Given the description of an element on the screen output the (x, y) to click on. 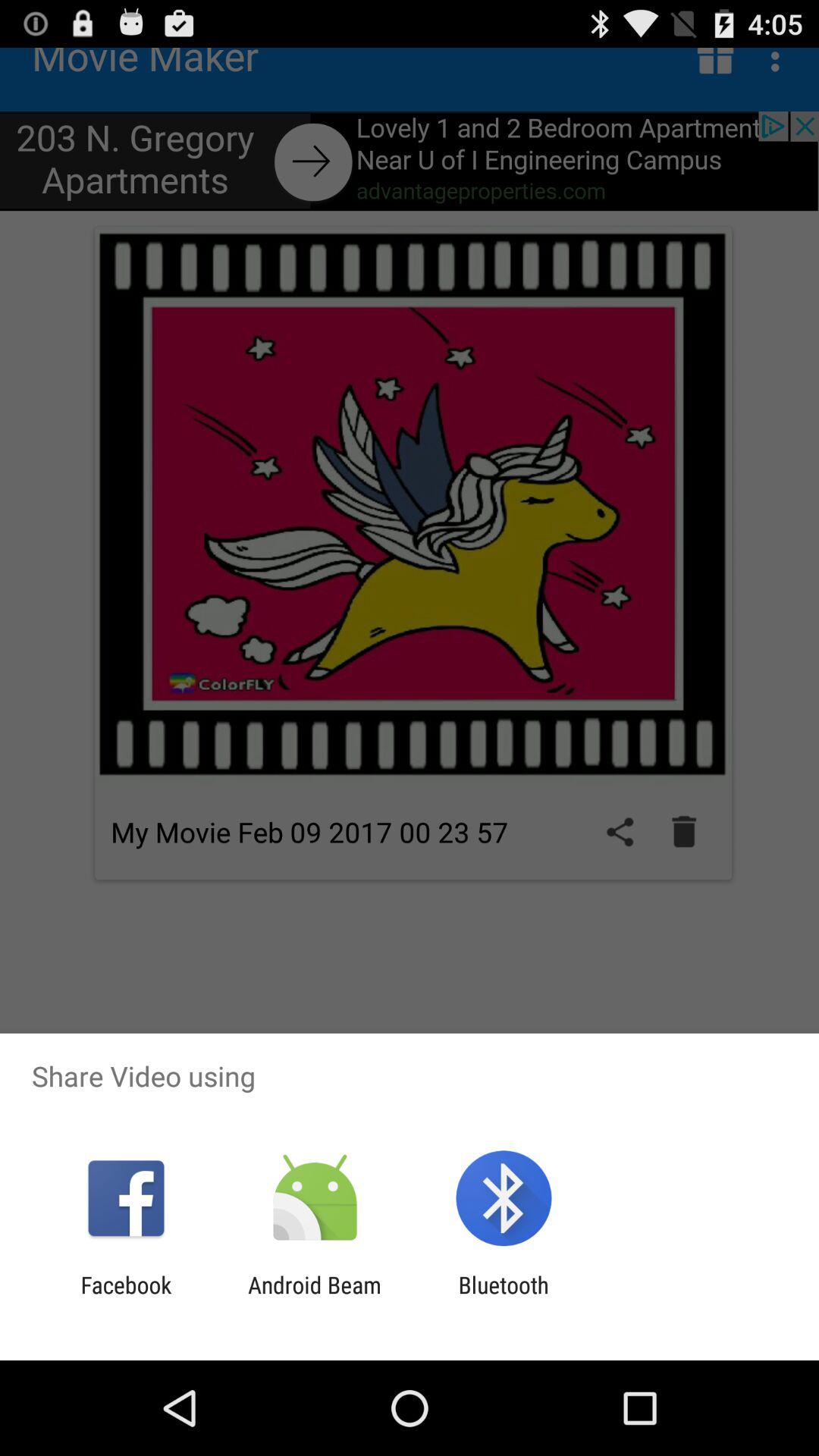
tap icon next to the bluetooth app (314, 1298)
